Given the description of an element on the screen output the (x, y) to click on. 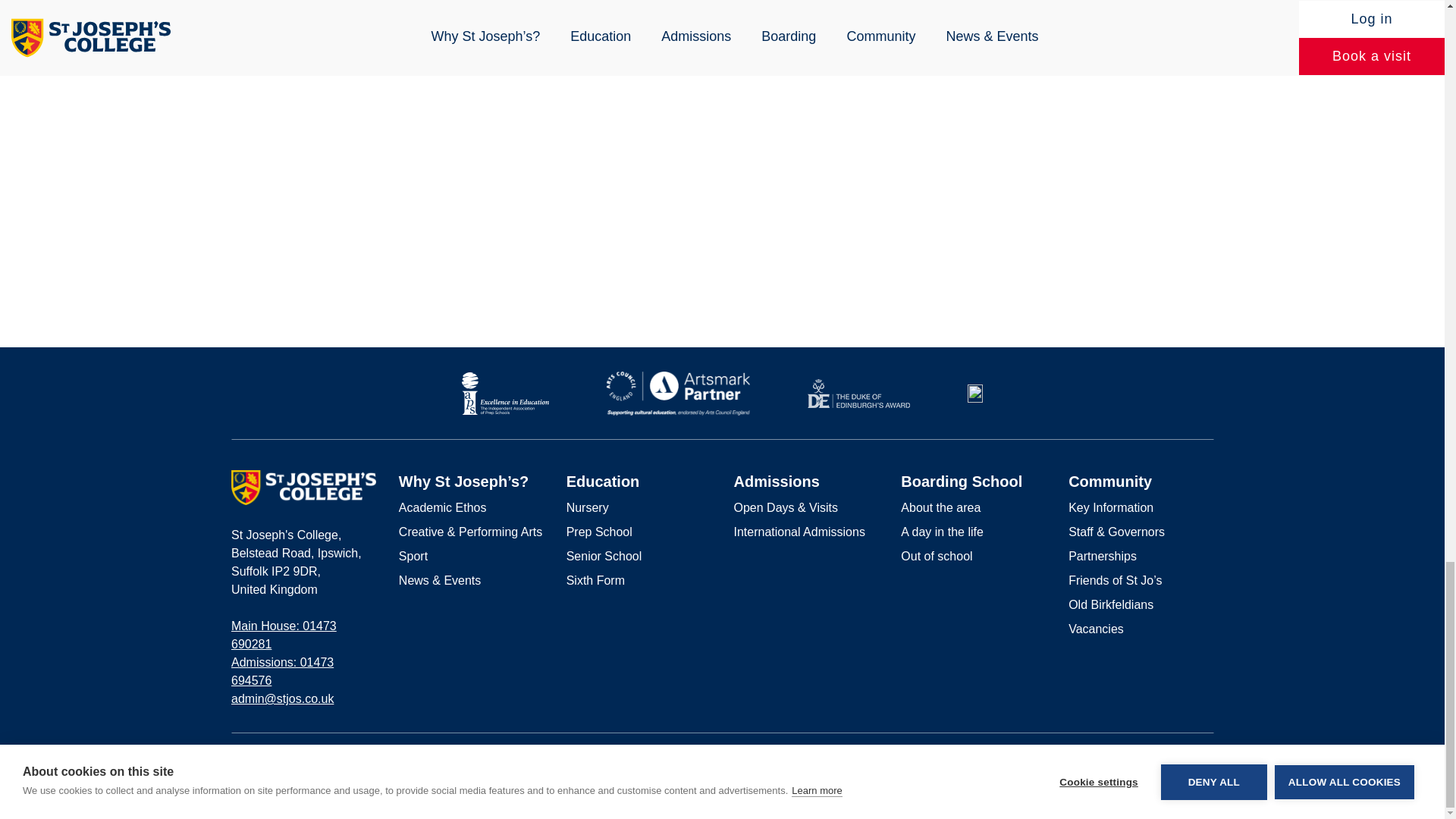
Twitter (1206, 759)
Facebook (1158, 758)
Instagram (1182, 758)
